Given the description of an element on the screen output the (x, y) to click on. 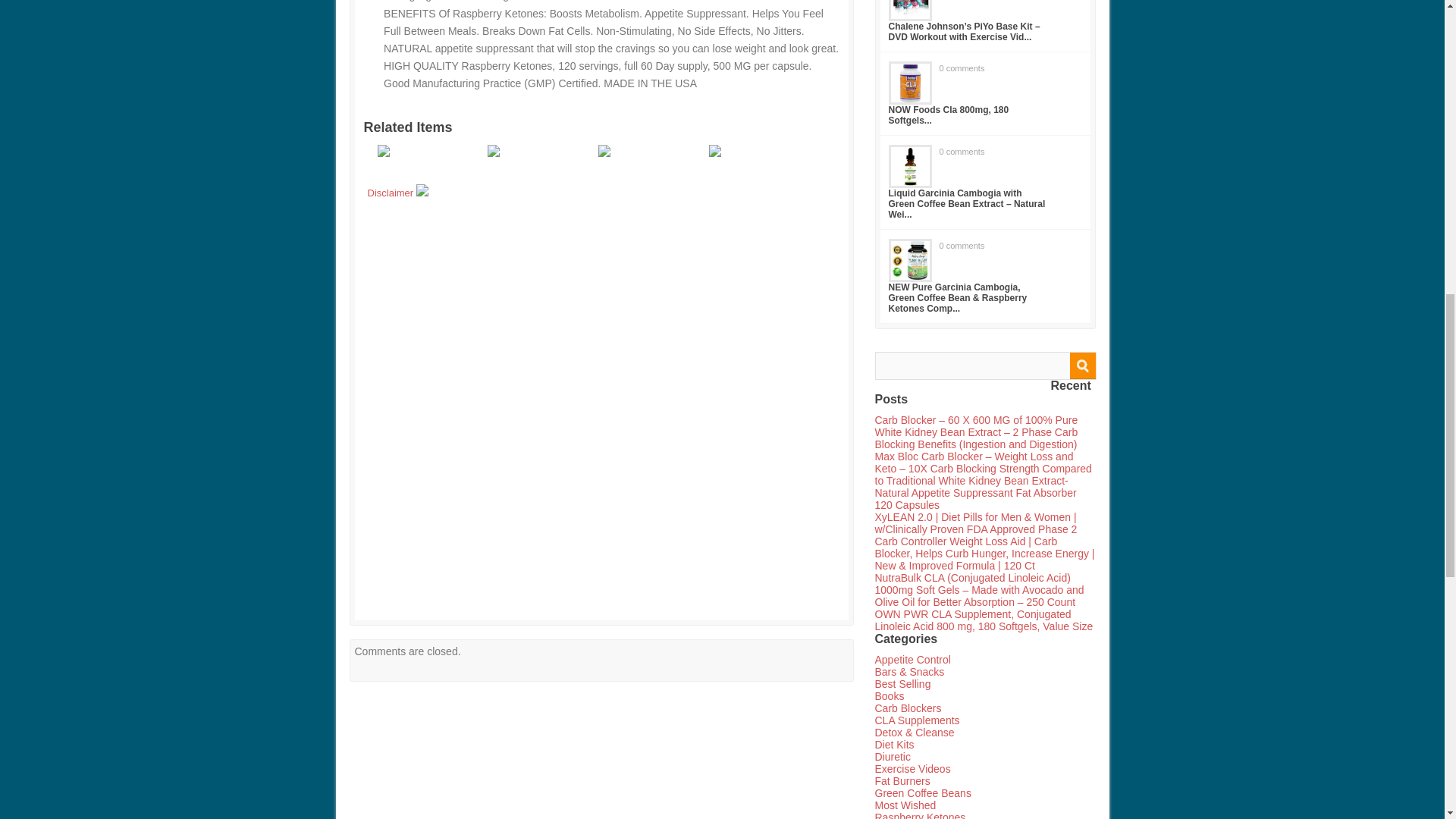
Disclaimer (397, 193)
Search (1081, 365)
